Given the description of an element on the screen output the (x, y) to click on. 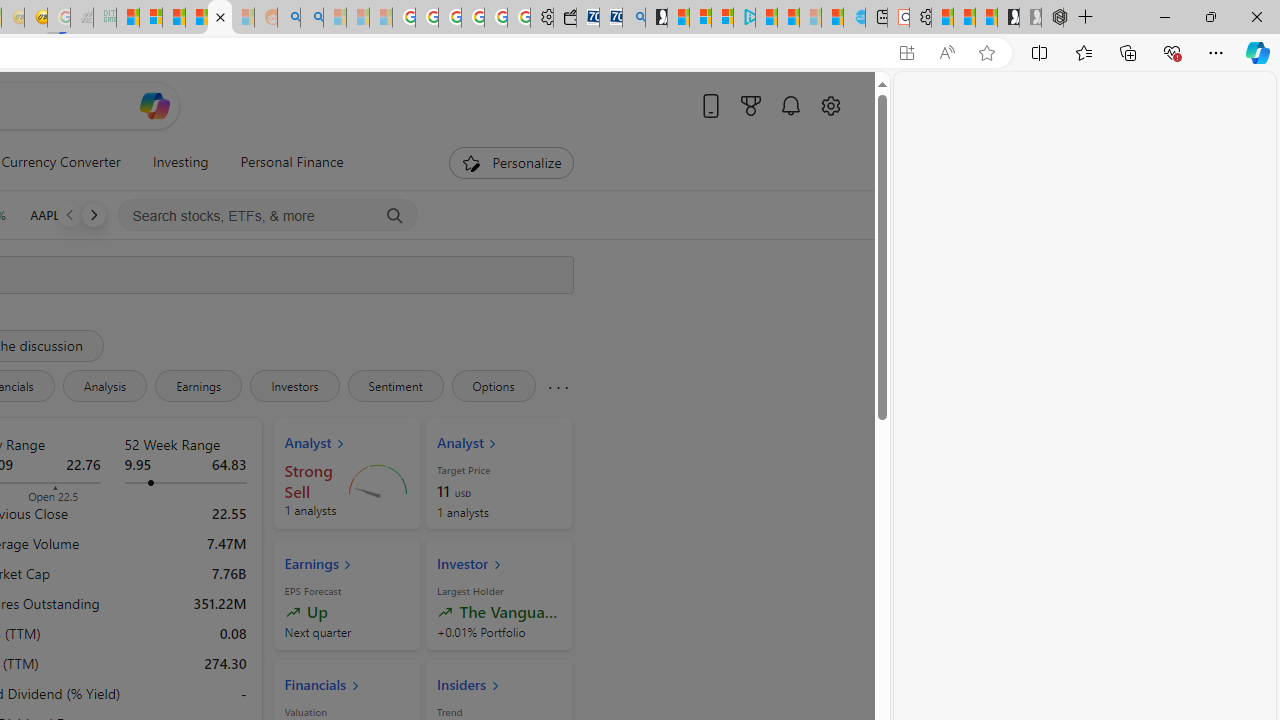
Microsoft Start Gaming (656, 17)
Microsoft rewards (749, 105)
Wallet (564, 17)
Investors (294, 385)
Open settings (830, 105)
Options (493, 385)
MSNBC - MSN (127, 17)
Personal Finance (284, 162)
Next (93, 214)
